Given the description of an element on the screen output the (x, y) to click on. 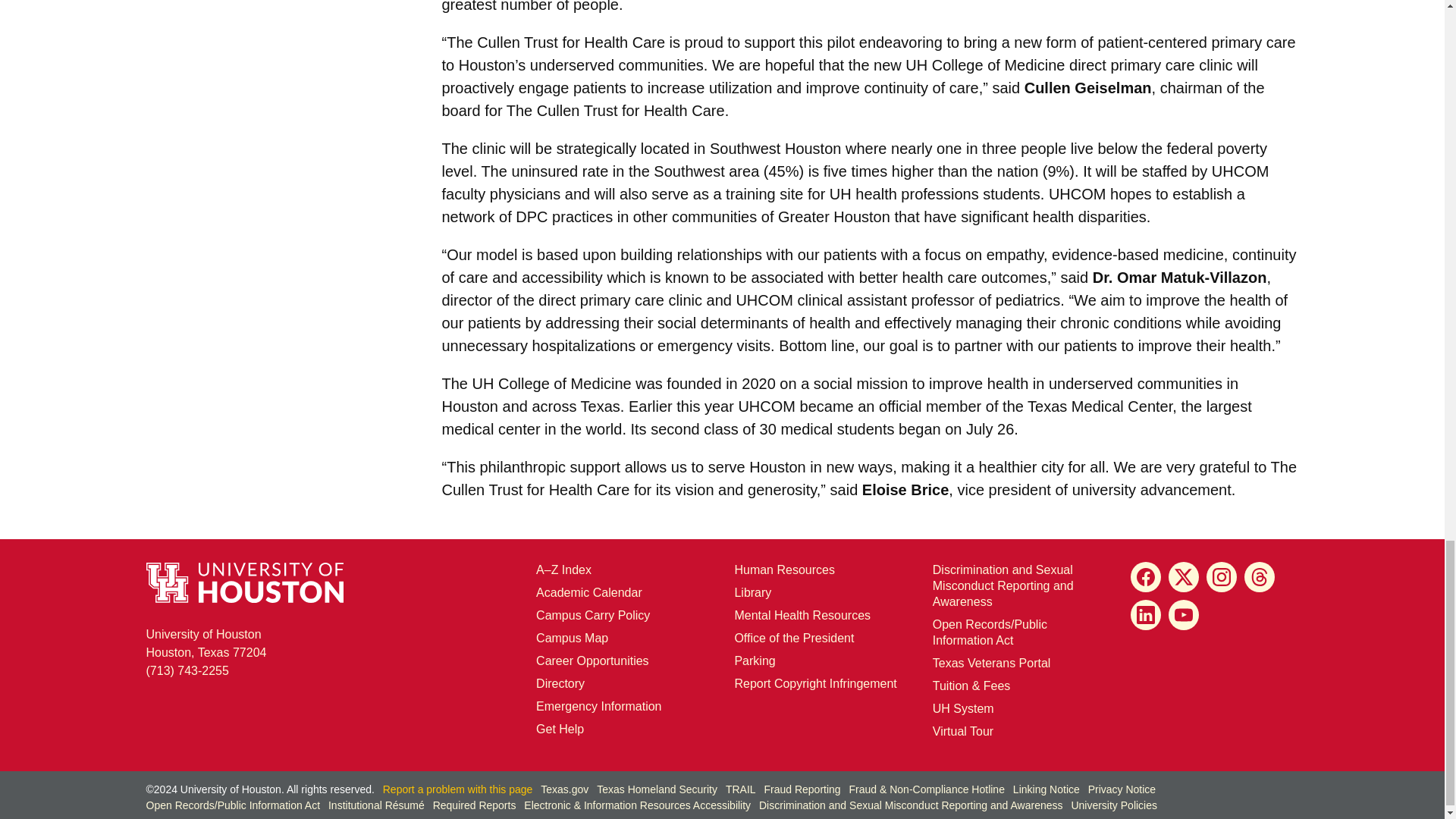
University of Houston (916, 64)
